Given the description of an element on the screen output the (x, y) to click on. 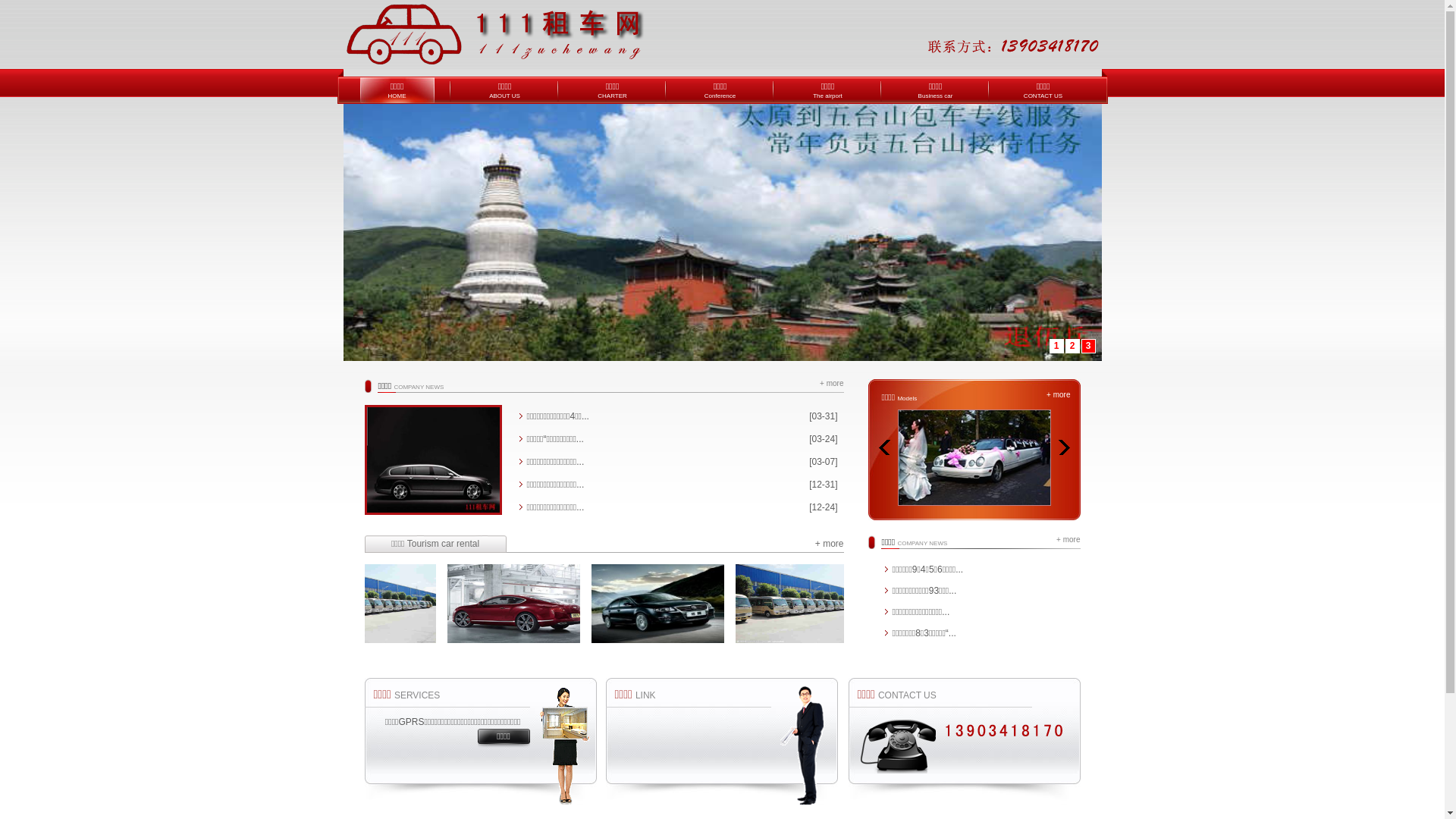
+ more Element type: text (829, 543)
+ more Element type: text (831, 383)
+ more Element type: text (1067, 539)
+ more Element type: text (1062, 394)
